Given the description of an element on the screen output the (x, y) to click on. 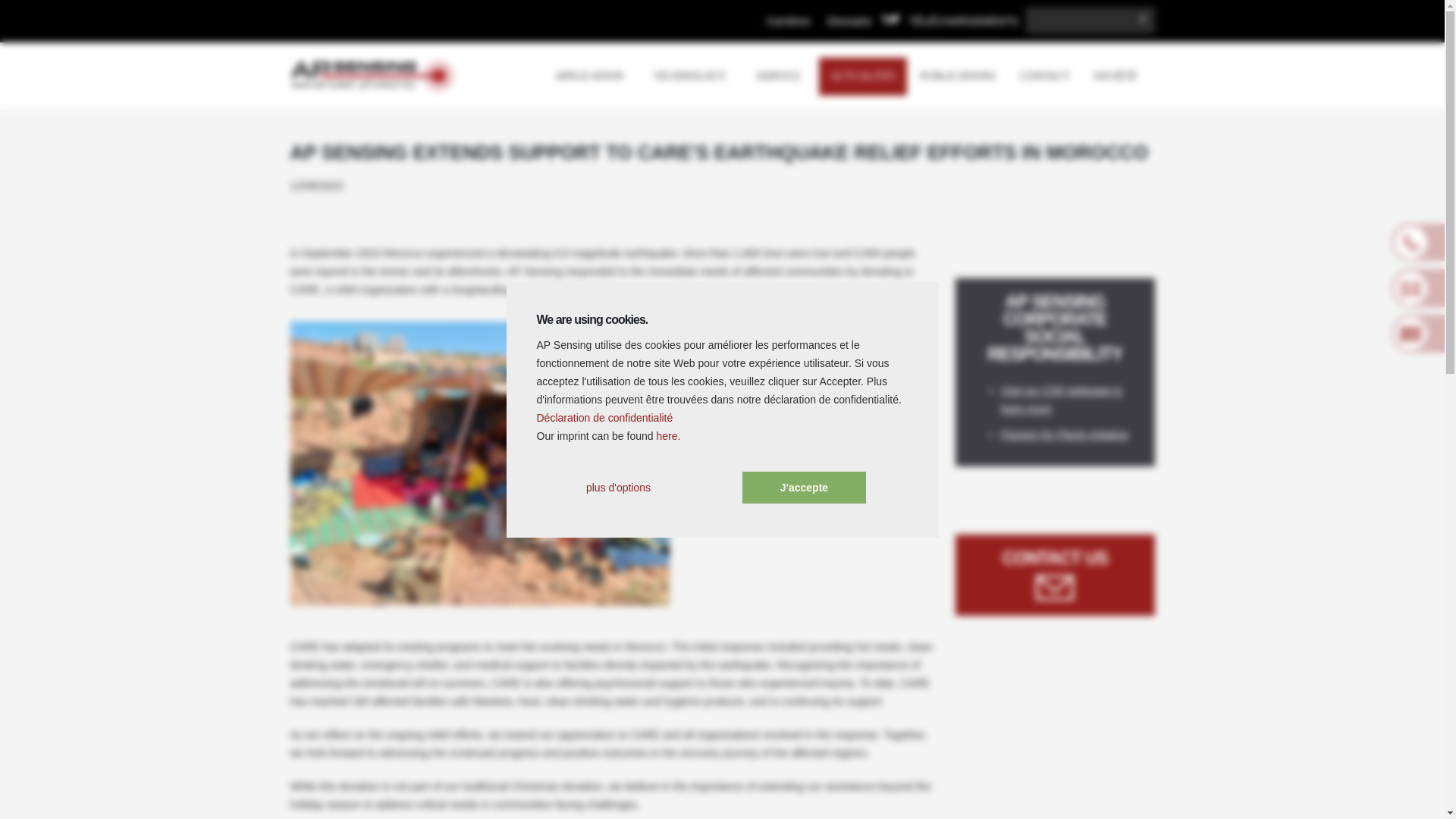
Imprint (667, 435)
Publications (957, 76)
here. (667, 435)
Se connecter (997, 148)
Marokko Nothilfe Foto 3 (478, 463)
APPLICATION (591, 76)
Service (780, 76)
Contact Us (1054, 587)
J'accepte (804, 487)
Privacy (604, 417)
TECHNOLOGY (693, 76)
plus d'options (618, 487)
Contact (1044, 76)
Glossaire (848, 21)
